Given the description of an element on the screen output the (x, y) to click on. 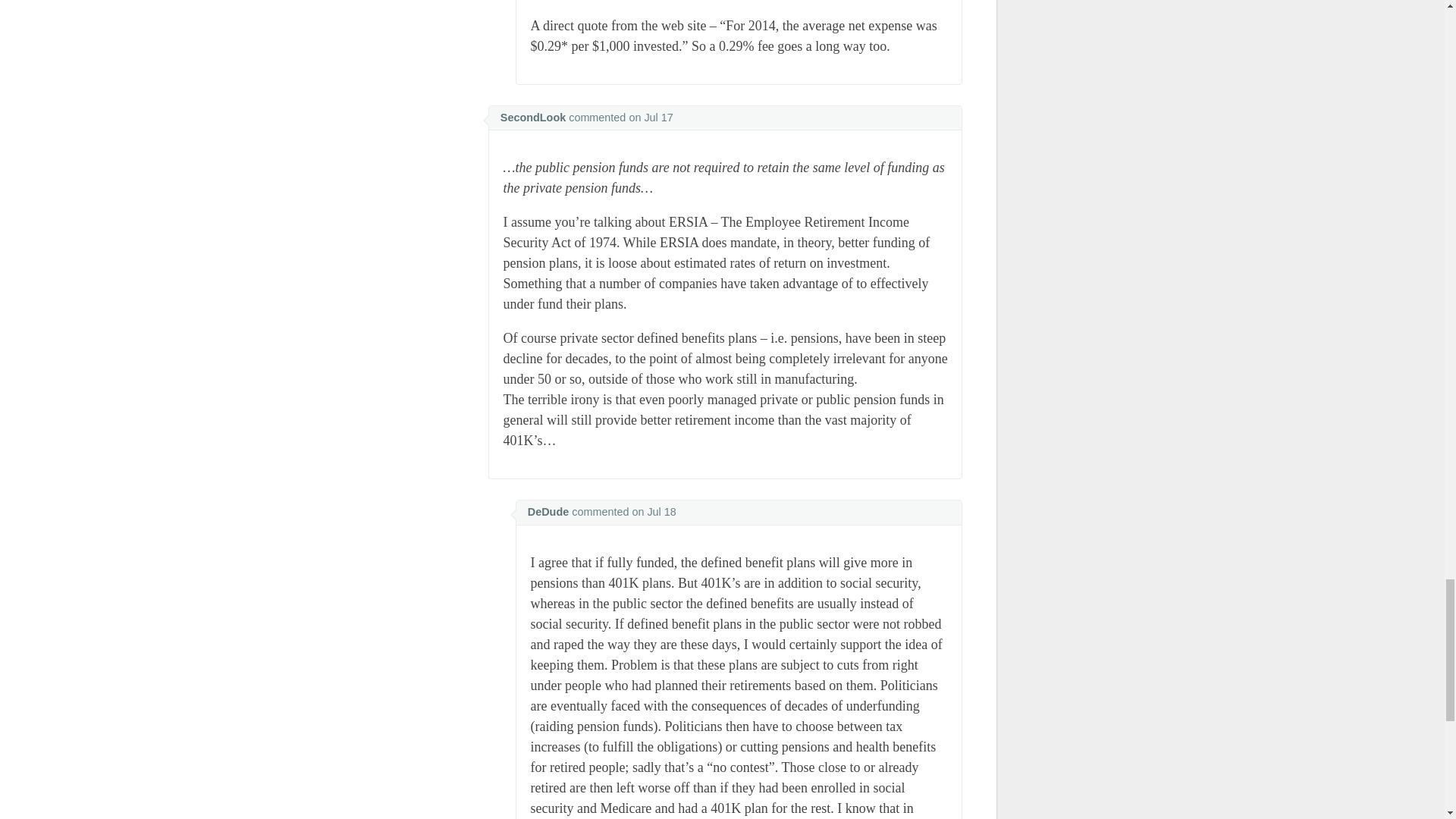
SecondLook (533, 116)
DeDude (548, 511)
